Given the description of an element on the screen output the (x, y) to click on. 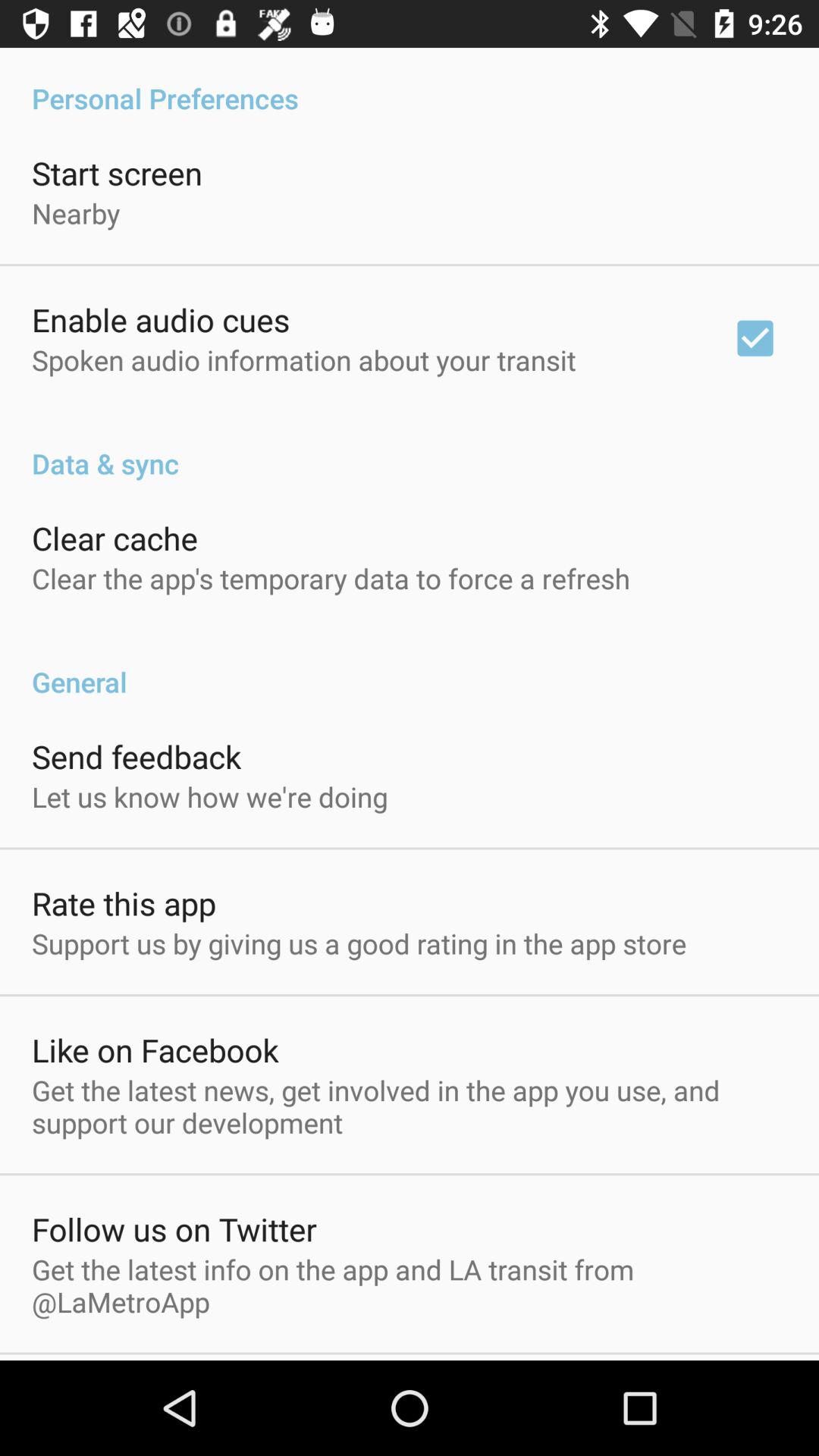
select app above spoken audio information (160, 319)
